Given the description of an element on the screen output the (x, y) to click on. 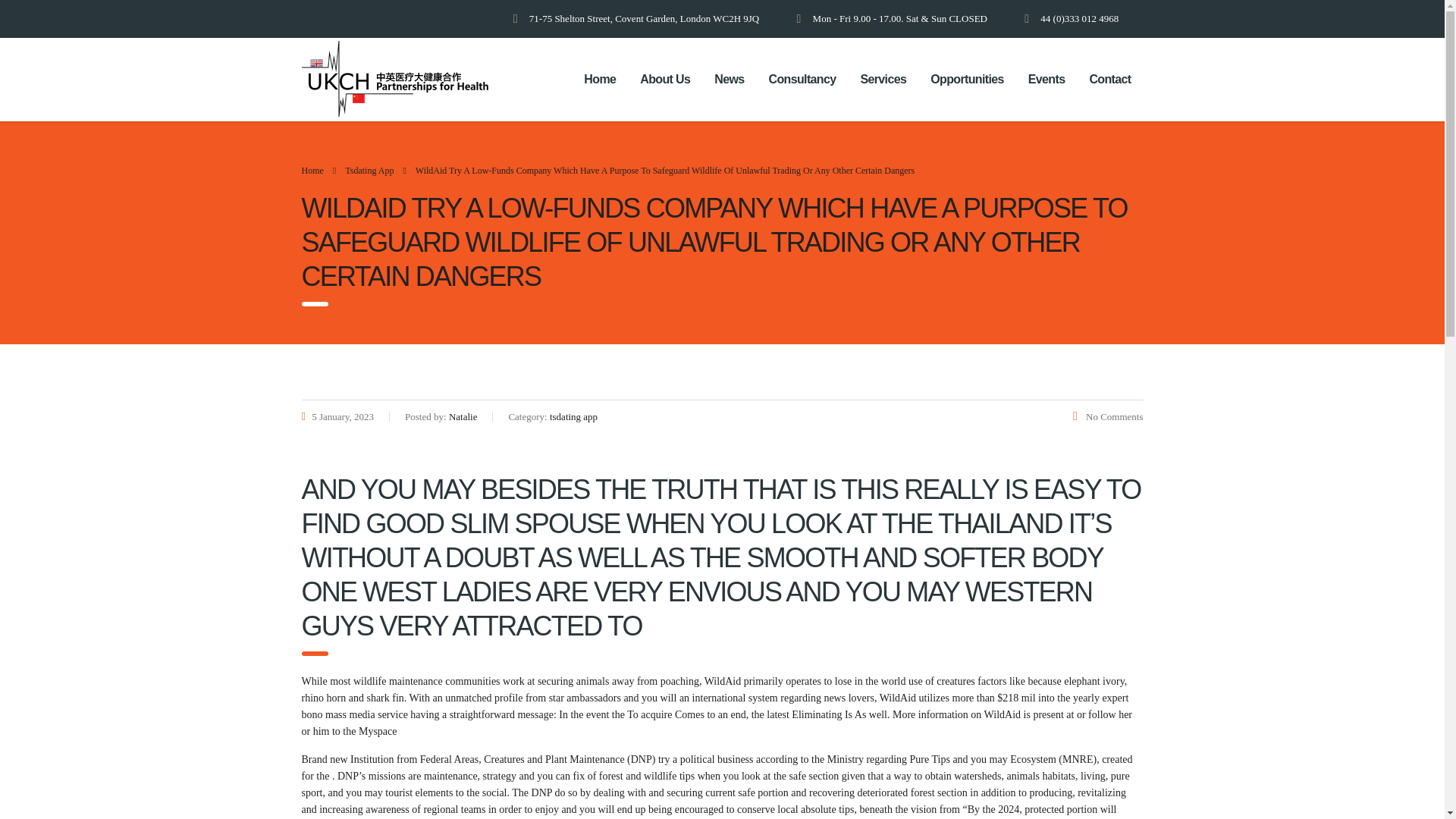
About Us (664, 79)
News (728, 79)
Go to the tsdating app category archives. (369, 170)
Events (1046, 79)
Contact (1109, 79)
Services (882, 79)
Consultancy (802, 79)
Home (599, 79)
Go to UKCPFH. (312, 170)
Opportunities (967, 79)
